Given the description of an element on the screen output the (x, y) to click on. 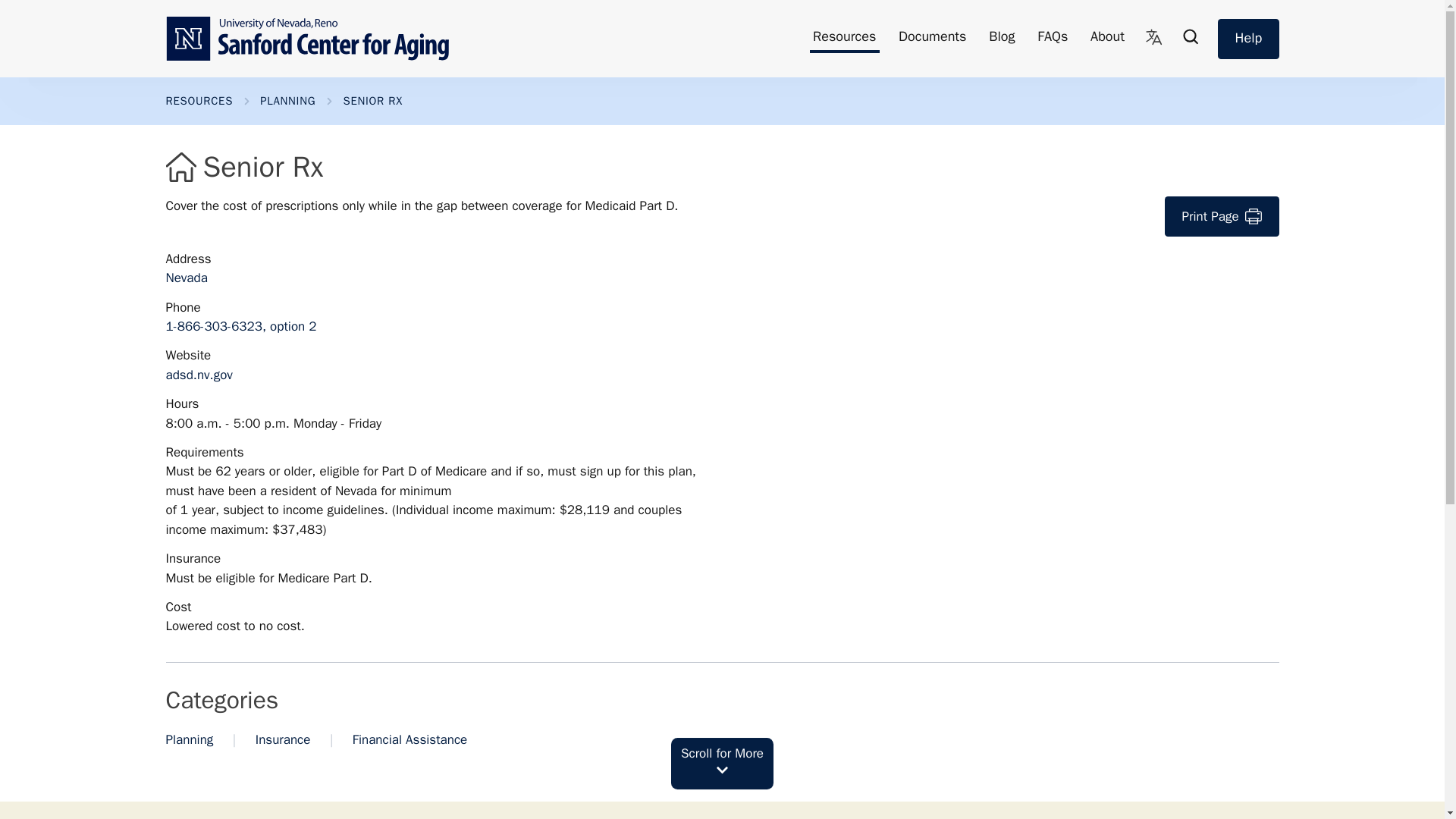
Planning (188, 739)
Nevada (185, 277)
Financial Assistance (409, 739)
Skip to main content (12, 12)
Blog (1001, 38)
Resources (844, 38)
PLANNING (287, 101)
FAQs (1052, 38)
Documents (932, 38)
RESOURCES (198, 101)
